Given the description of an element on the screen output the (x, y) to click on. 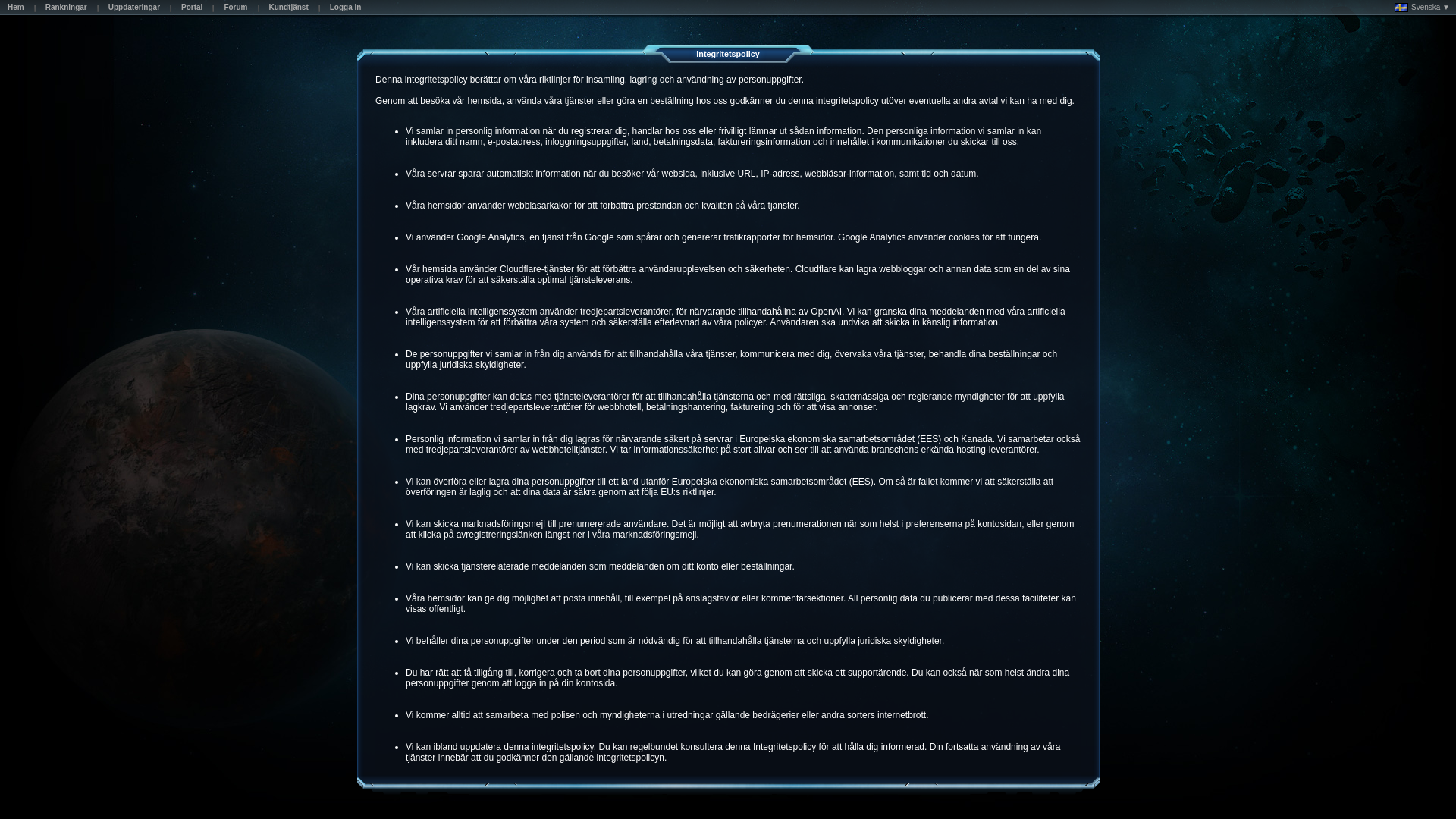
Hem (16, 9)
Uppdateringar (133, 9)
Rankningar (65, 9)
Forum (234, 9)
Logga In (345, 9)
Portal (191, 9)
